Given the description of an element on the screen output the (x, y) to click on. 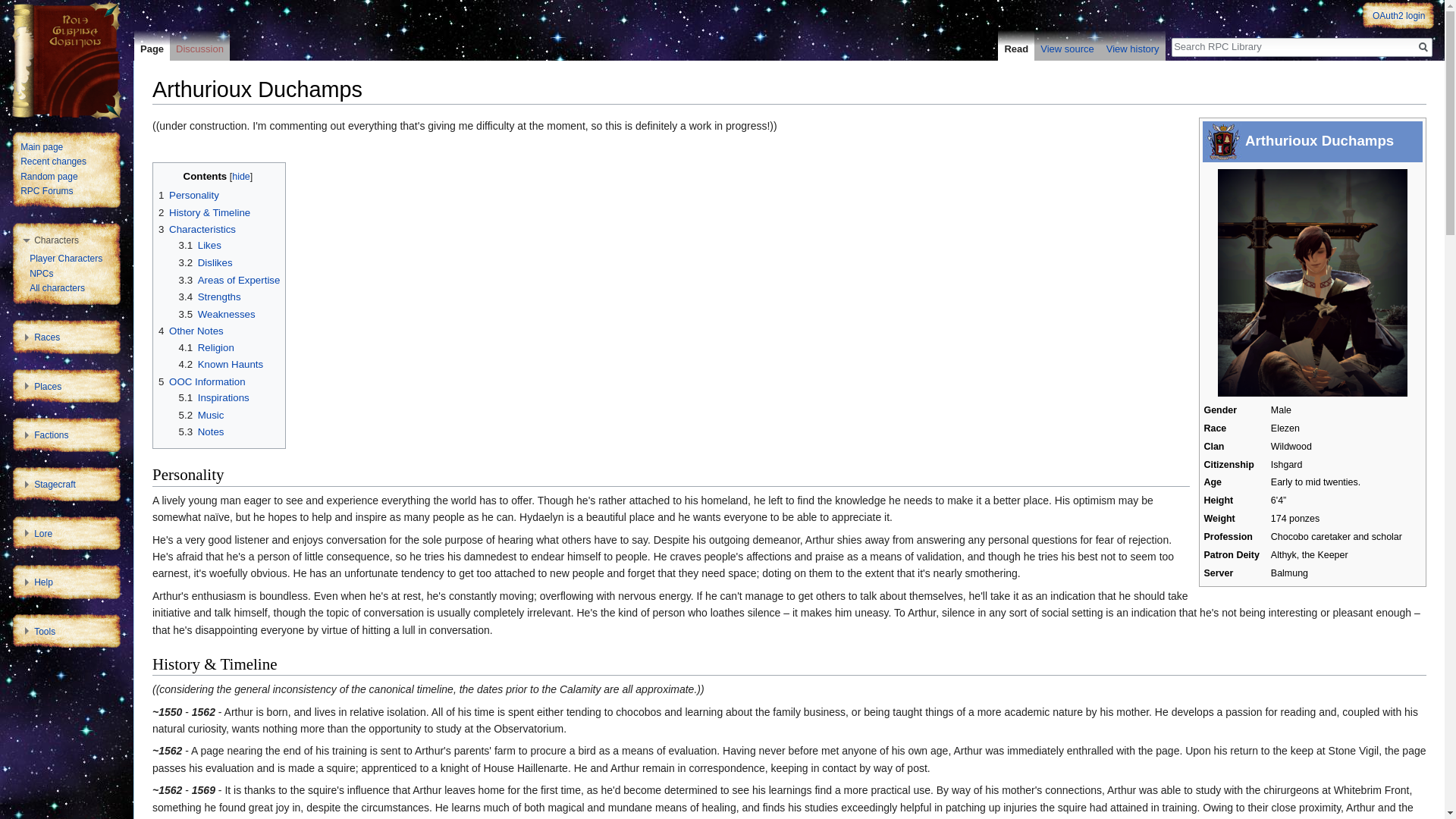
3.5 Weaknesses (217, 314)
4.2 Known Haunts (221, 364)
3.2 Dislikes (205, 262)
Go (1423, 46)
3.4 Strengths (210, 296)
Visit the main page (66, 60)
hide (240, 176)
3.1 Likes (200, 244)
1 Personality (188, 194)
4.1 Religion (206, 347)
3 Characteristics (196, 229)
5 OOC Information (202, 381)
5.3 Notes (201, 431)
3.3 Areas of Expertise (230, 279)
